Given the description of an element on the screen output the (x, y) to click on. 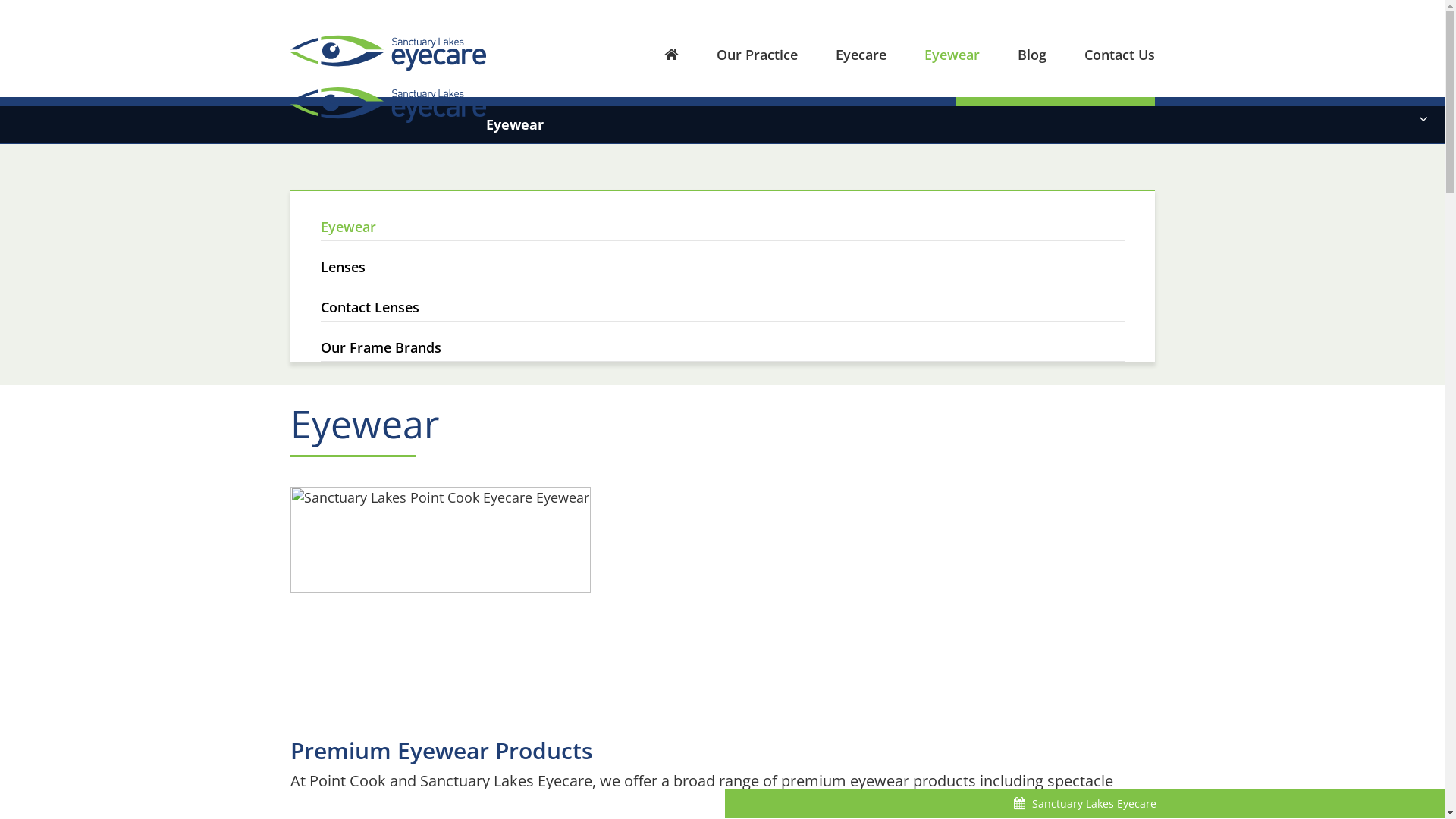
Blog Element type: text (1012, 52)
Sanctuary Lakes Eyecare Element type: hover (387, 52)
Eyewear Element type: text (932, 52)
Eyewear Element type: text (721, 216)
Contact Lenses Element type: text (721, 301)
Lenses Element type: text (721, 261)
Sanctuary Lakes Eyecare Element type: hover (387, 103)
Our Frame Brands Element type: text (721, 341)
Sanctuary Lakes Eyecare - 0393957530 Element type: text (438, 125)
Sanctuary Lakes Eyecare Element type: text (1084, 803)
Book an Appointment Element type: text (1054, 115)
Eyecare Element type: text (841, 52)
Contact Us Element type: text (1100, 52)
Sanctuary Lakes Eyecare Element type: hover (387, 65)
Our Practice Element type: text (737, 52)
Sanctuary Lakes Point Cook Eyecare Eyewear Element type: hover (439, 539)
